Given the description of an element on the screen output the (x, y) to click on. 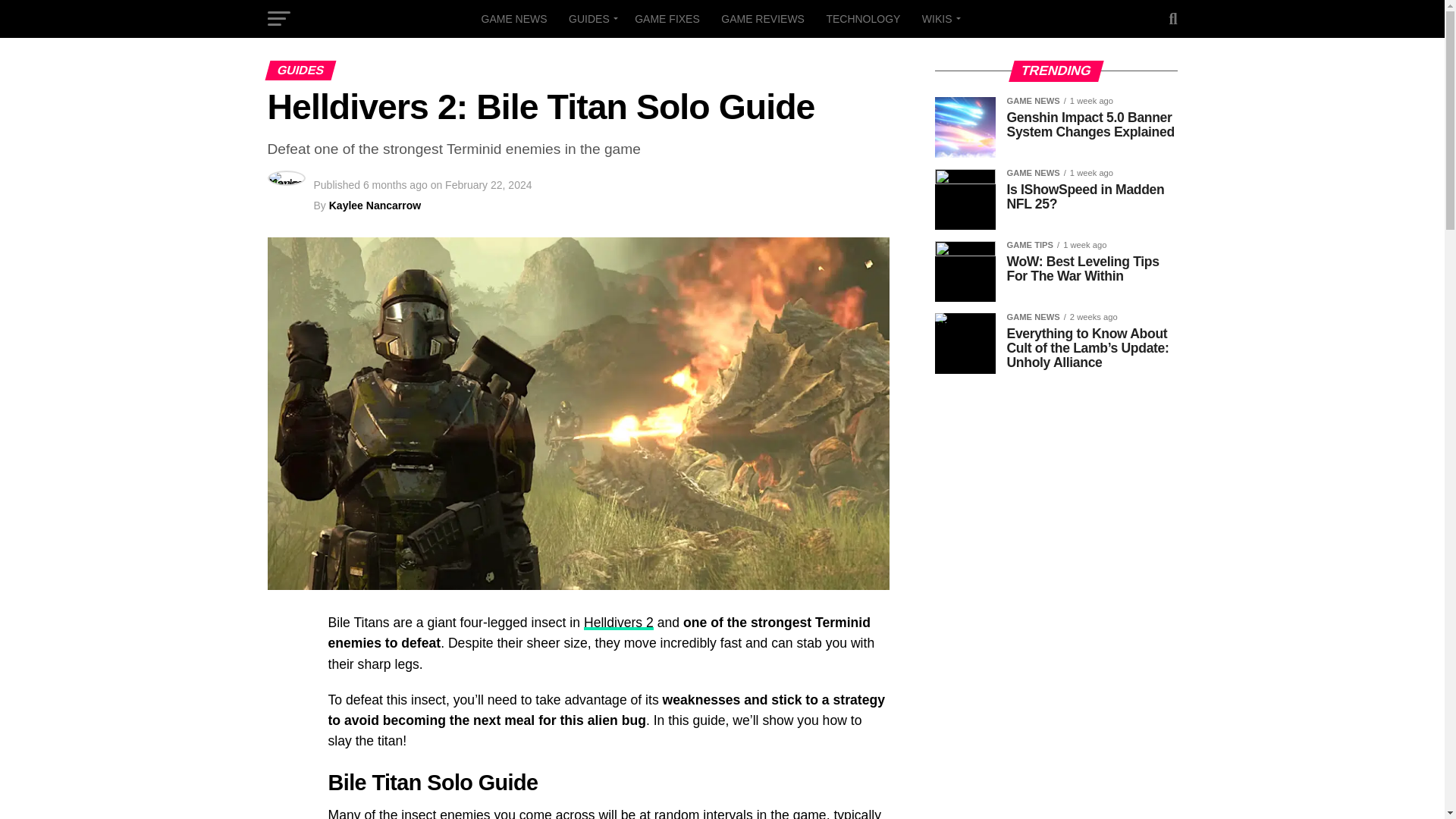
WIKIS (938, 18)
Helldivers 2 (618, 622)
GAME FIXES (667, 18)
GAME NEWS (513, 18)
GAME REVIEWS (762, 18)
TECHNOLOGY (862, 18)
Posts by Kaylee Nancarrow (374, 205)
GUIDES (591, 18)
Kaylee Nancarrow (374, 205)
